Given the description of an element on the screen output the (x, y) to click on. 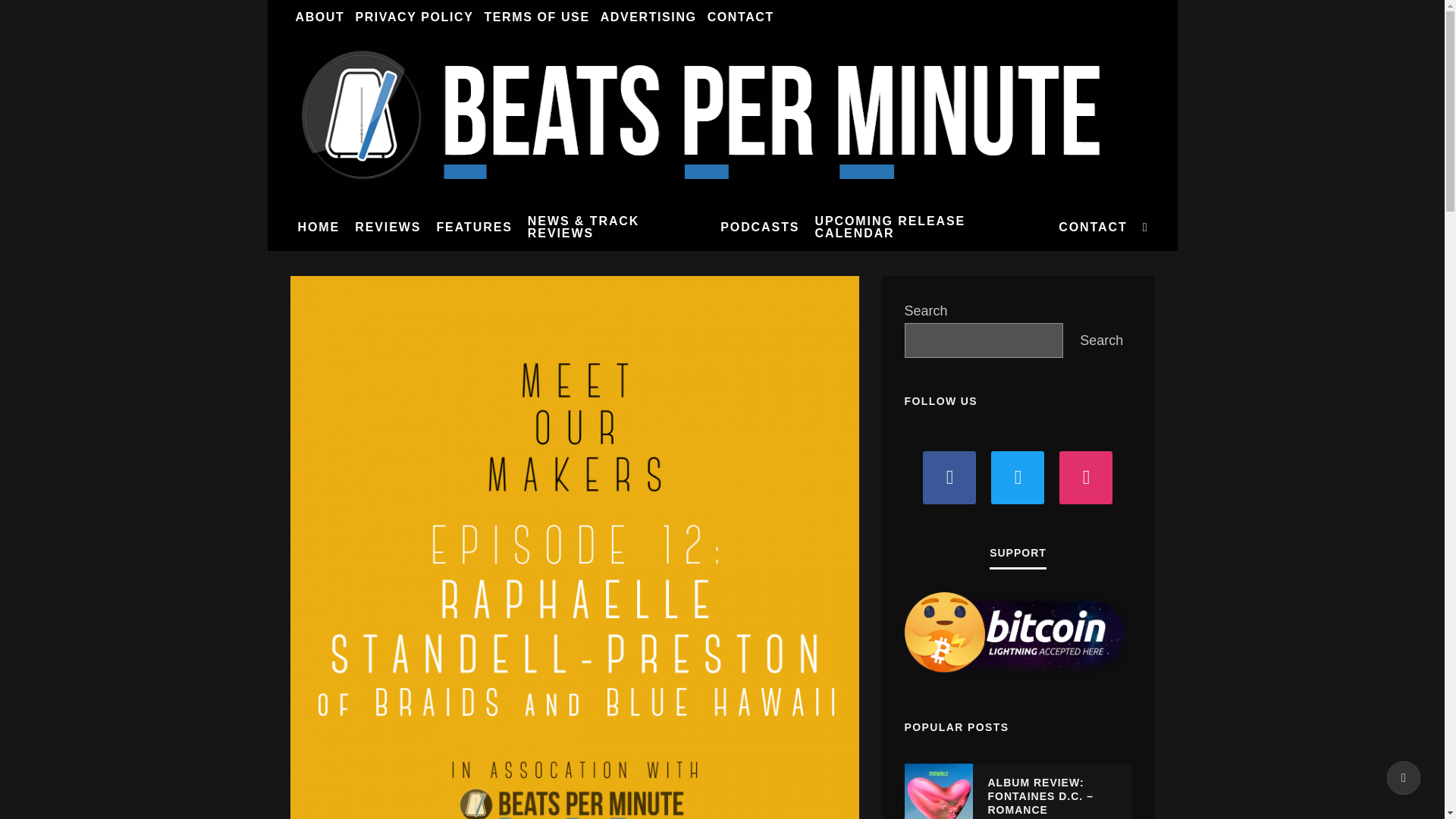
ABOUT (319, 17)
FEATURES (473, 226)
REVIEWS (387, 226)
ADVERTISING (648, 17)
PRIVACY POLICY (414, 17)
HOME (318, 226)
TERMS OF USE (536, 17)
CONTACT (739, 17)
